Given the description of an element on the screen output the (x, y) to click on. 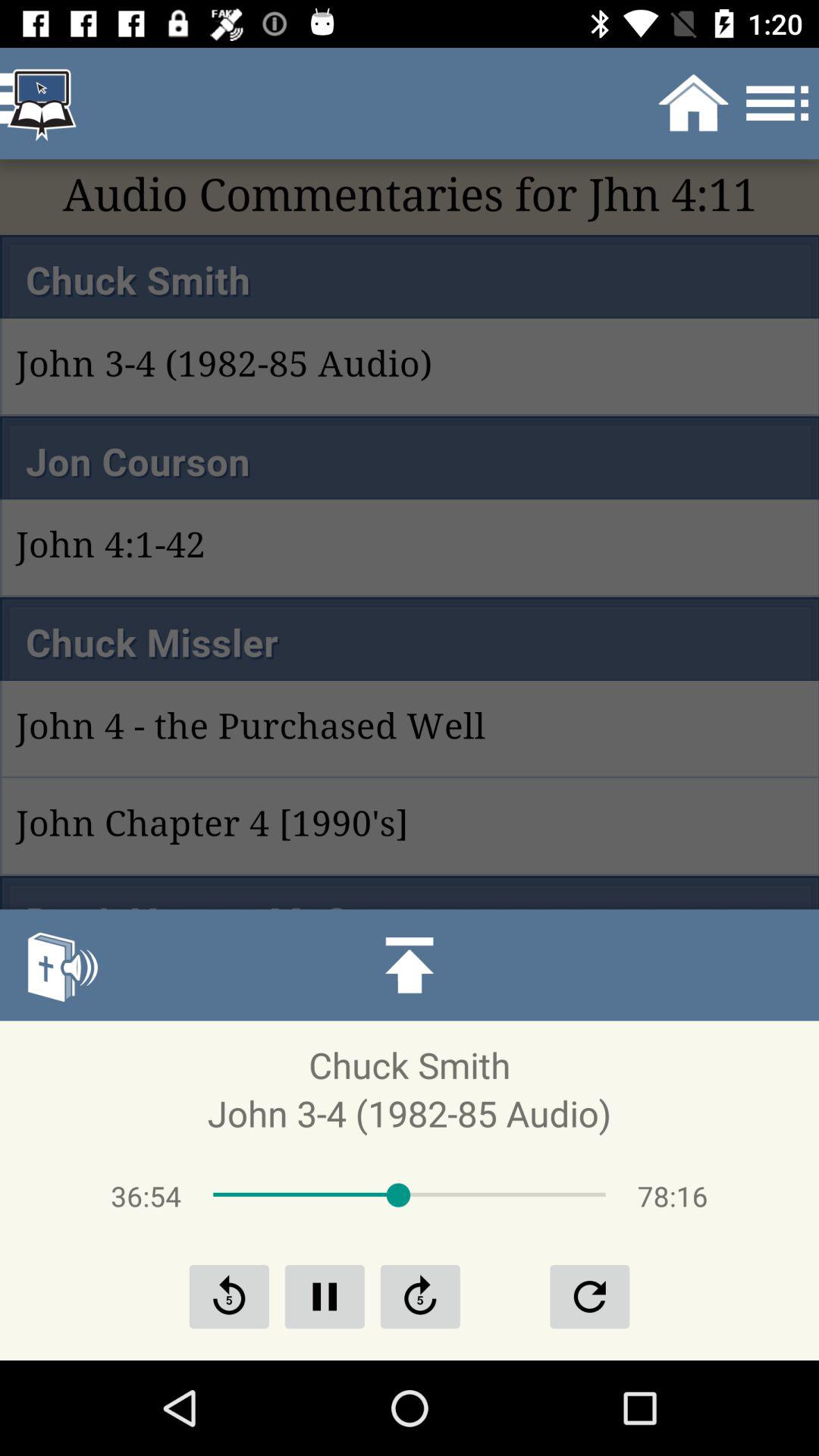
turn on icon above the chuck smith (61, 964)
